Given the description of an element on the screen output the (x, y) to click on. 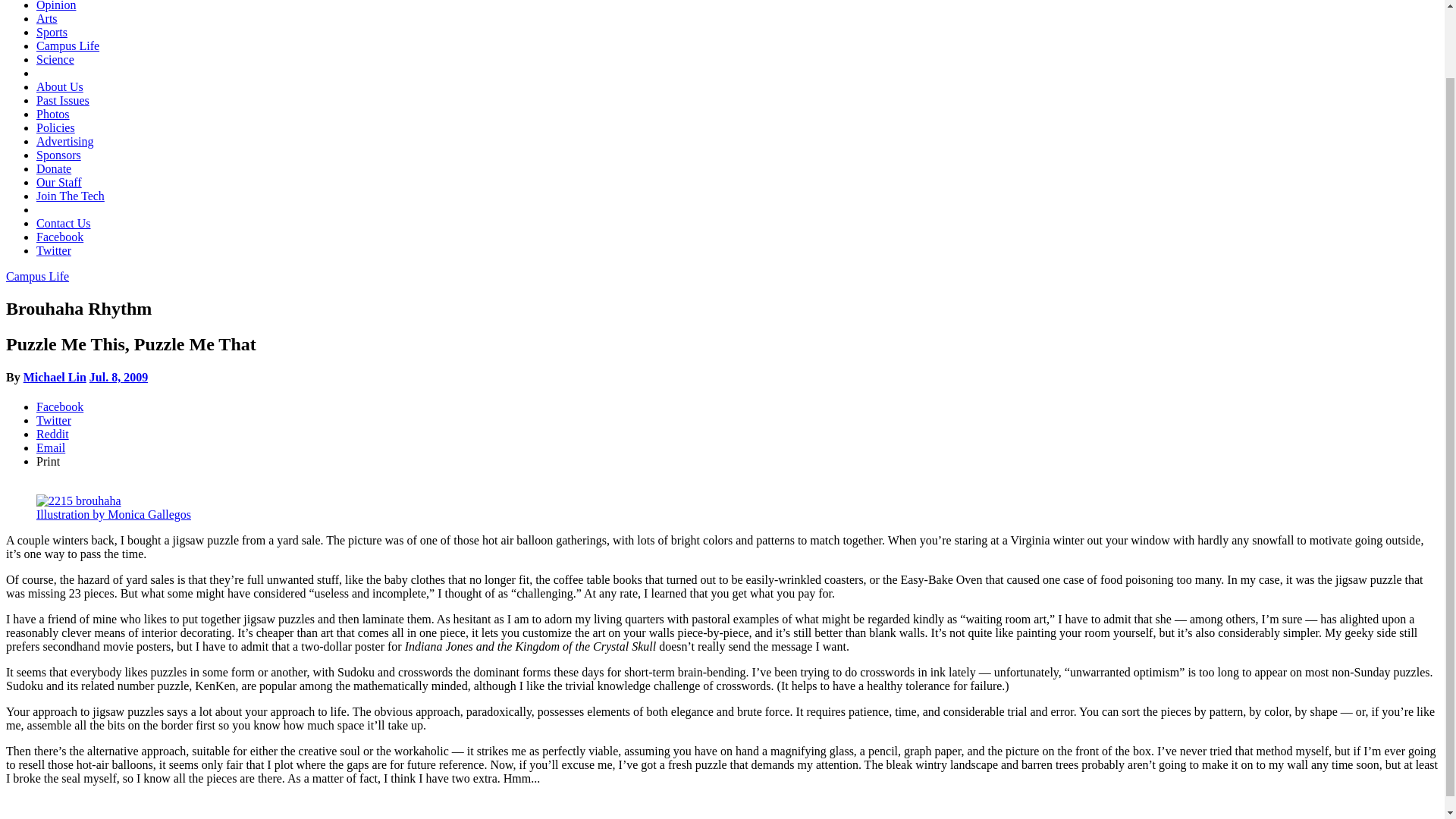
Facebook (59, 236)
Twitter (53, 250)
Jul. 8, 2009 (118, 377)
Reddit (52, 433)
Arts (47, 18)
Print (47, 461)
Past Issues (62, 100)
Science (55, 59)
Donate (53, 168)
Campus Life (67, 45)
